Given the description of an element on the screen output the (x, y) to click on. 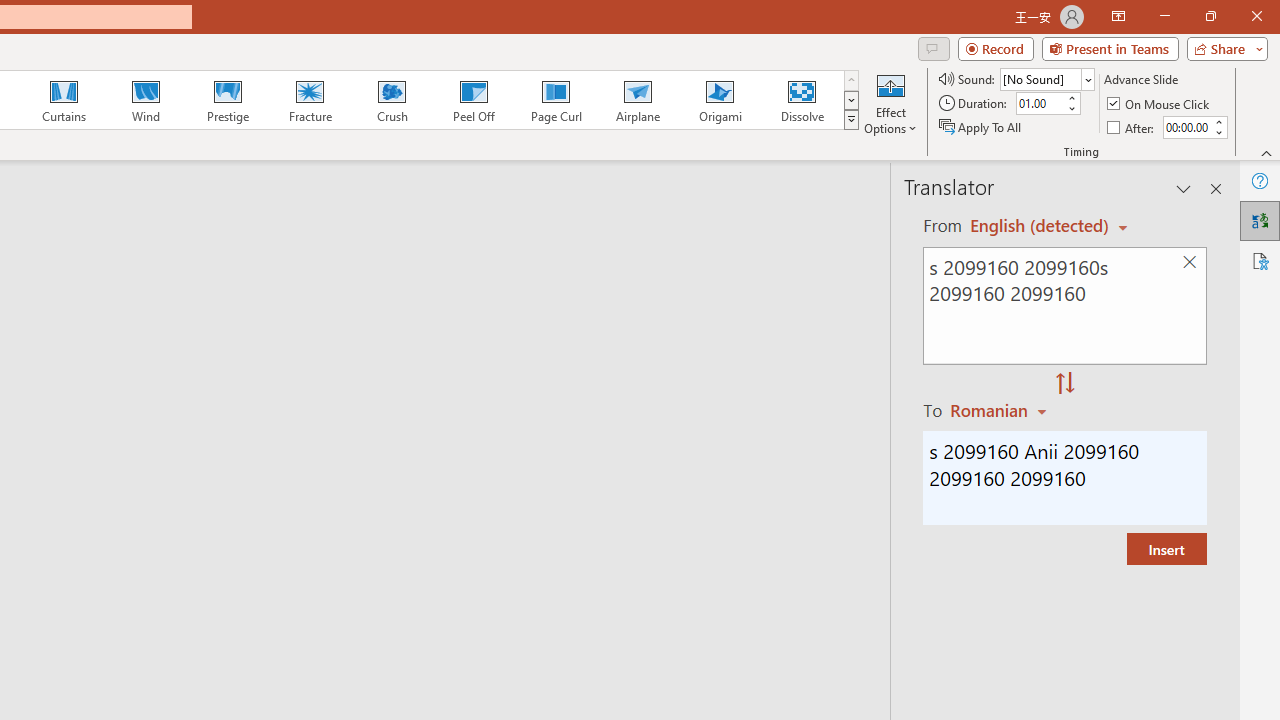
Crush (391, 100)
Duration (1039, 103)
Less (1218, 132)
Peel Off (473, 100)
Airplane (637, 100)
Transition Effects (850, 120)
Clear text (1189, 262)
